Given the description of an element on the screen output the (x, y) to click on. 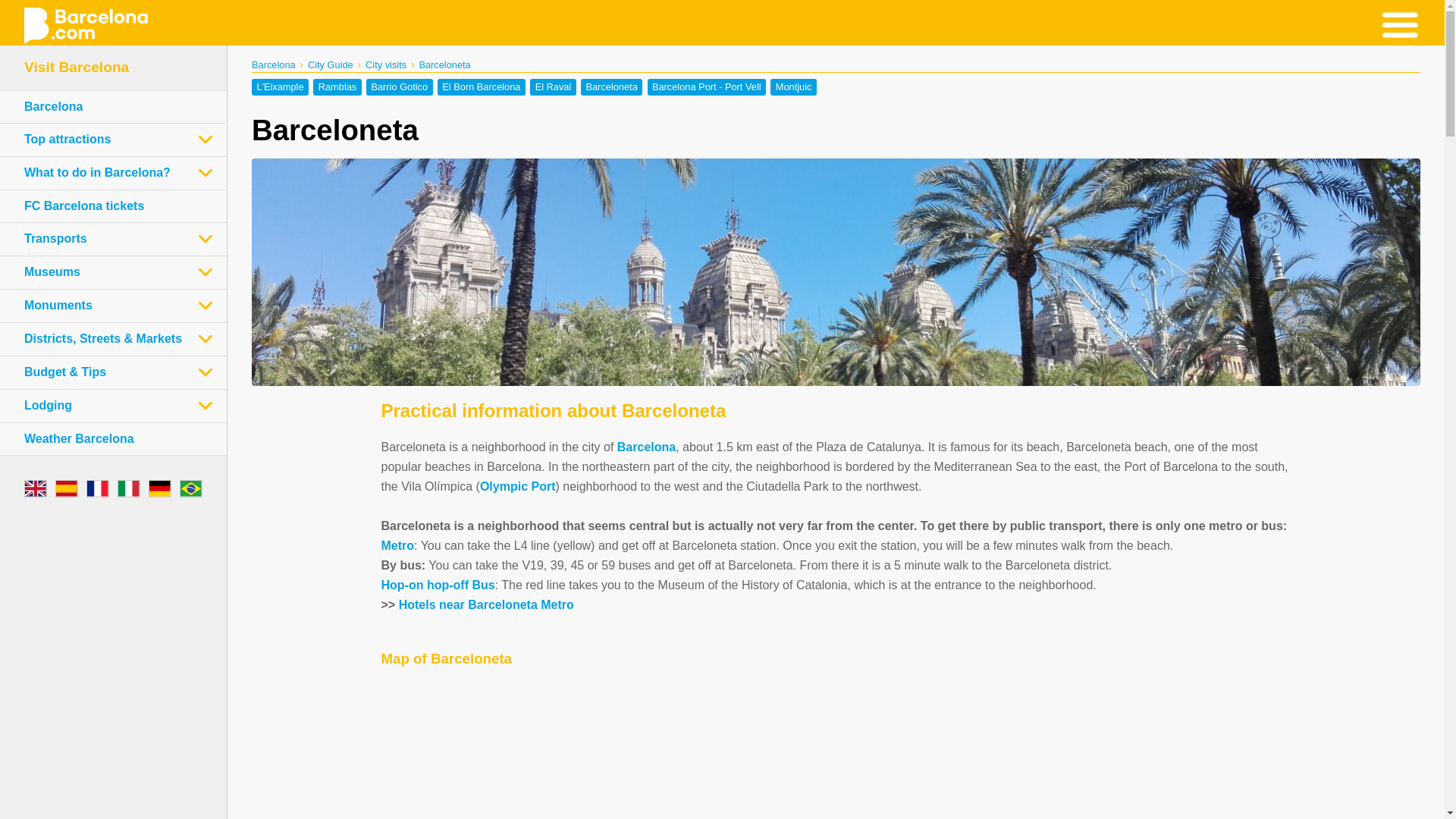
City Guide (330, 64)
Barcelona (273, 64)
Olympic Port (518, 486)
Hotels near Barceloneta Metro (485, 604)
L'Eixample (279, 86)
Hop-on hop-off Bus Barcelona (437, 584)
Barcelona (646, 446)
Barcelona (53, 106)
Hotels near Barceloneta Metro (485, 604)
Barrio Gotico (399, 86)
